Given the description of an element on the screen output the (x, y) to click on. 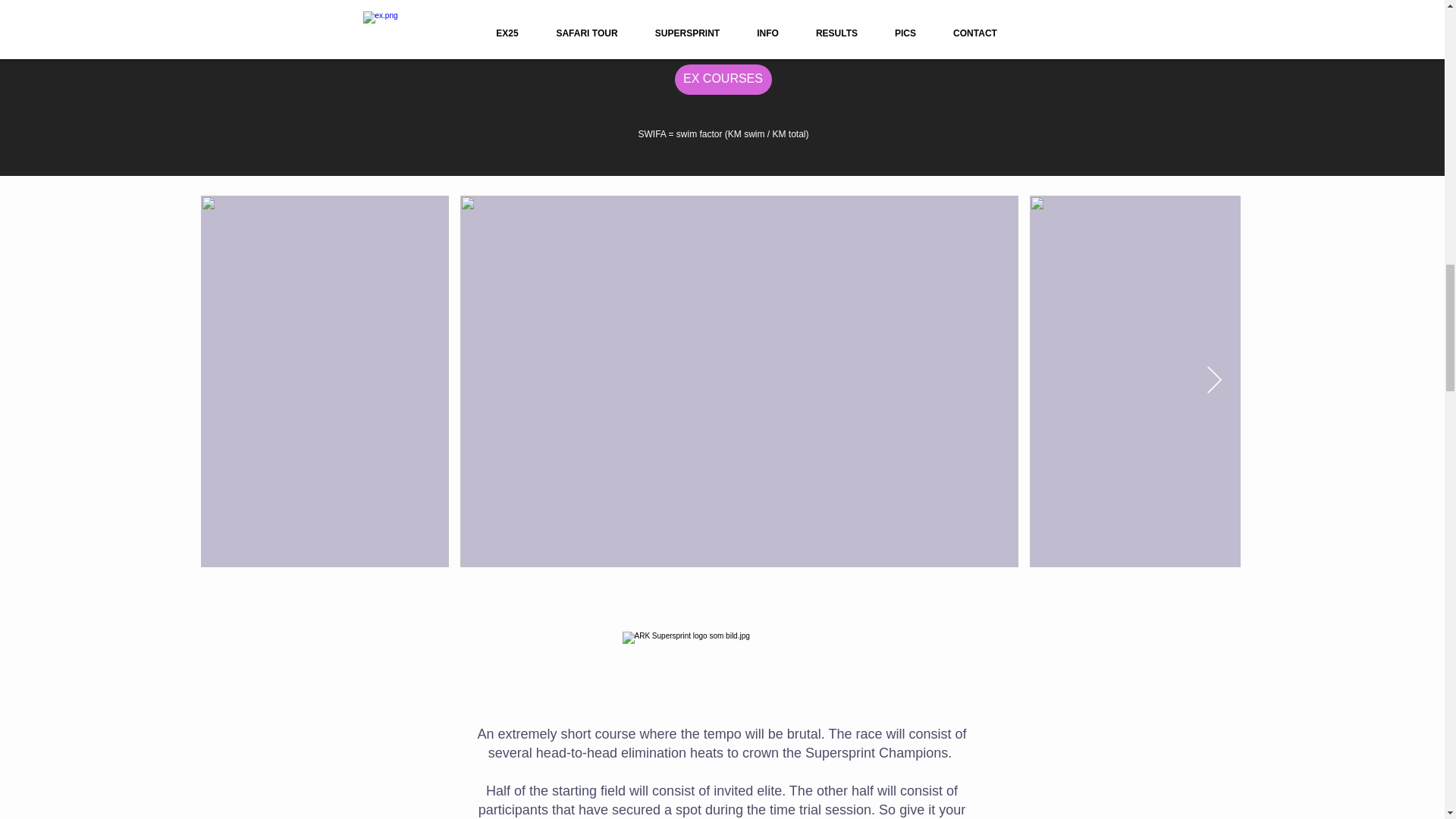
EX COURSES (723, 79)
